Given the description of an element on the screen output the (x, y) to click on. 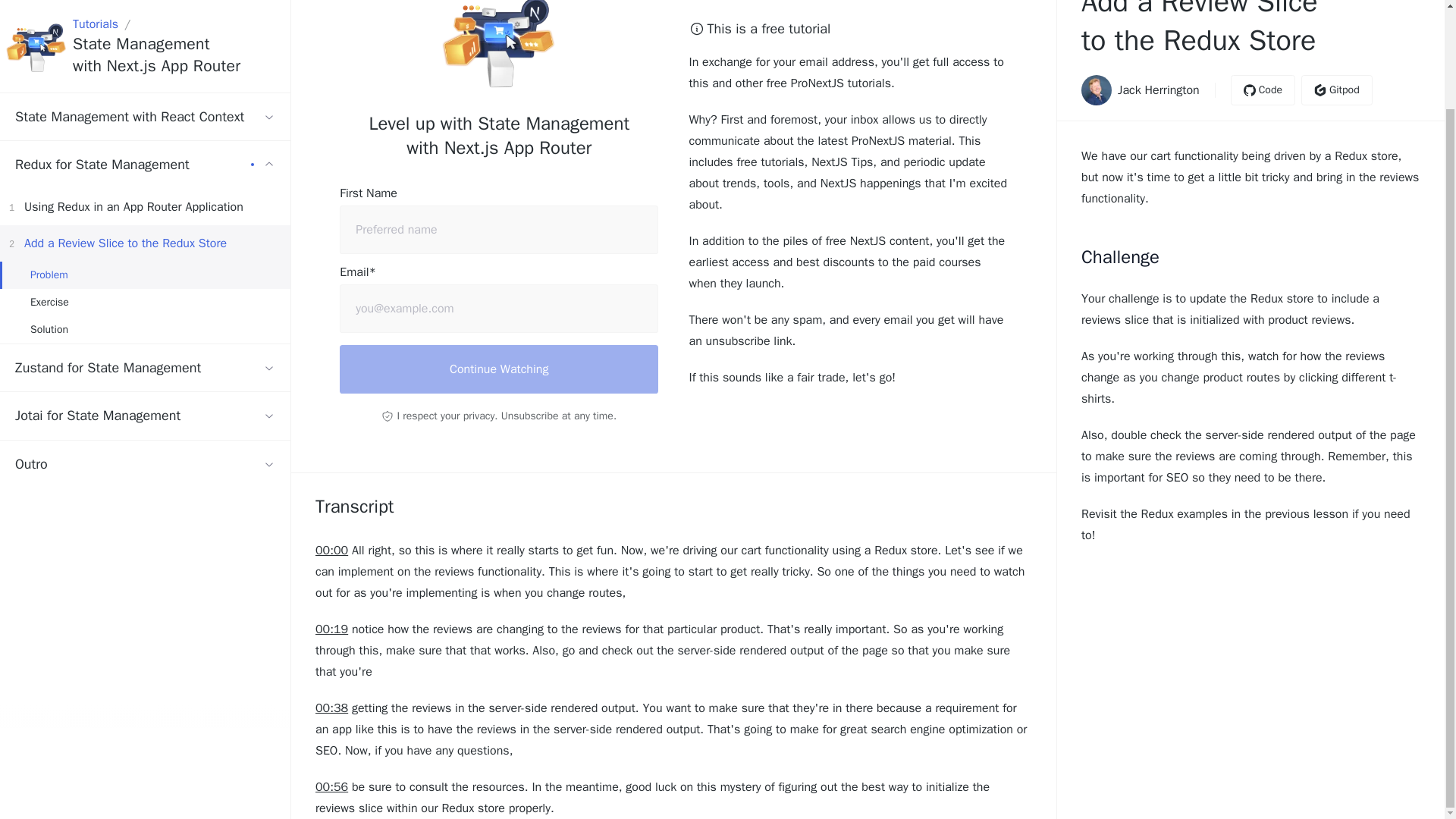
State Management with React Context (144, 51)
Solution (144, 263)
Zustand for State Management (144, 301)
Continue Watching (498, 368)
Jotai for State Management (144, 349)
00:19 (331, 629)
00:38 (331, 708)
Gitpod (144, 140)
Code (1337, 90)
00:00 (1262, 90)
State Management with Next.js App Router (331, 550)
Exercise (173, 5)
Outro (144, 236)
00:56 (144, 398)
